Given the description of an element on the screen output the (x, y) to click on. 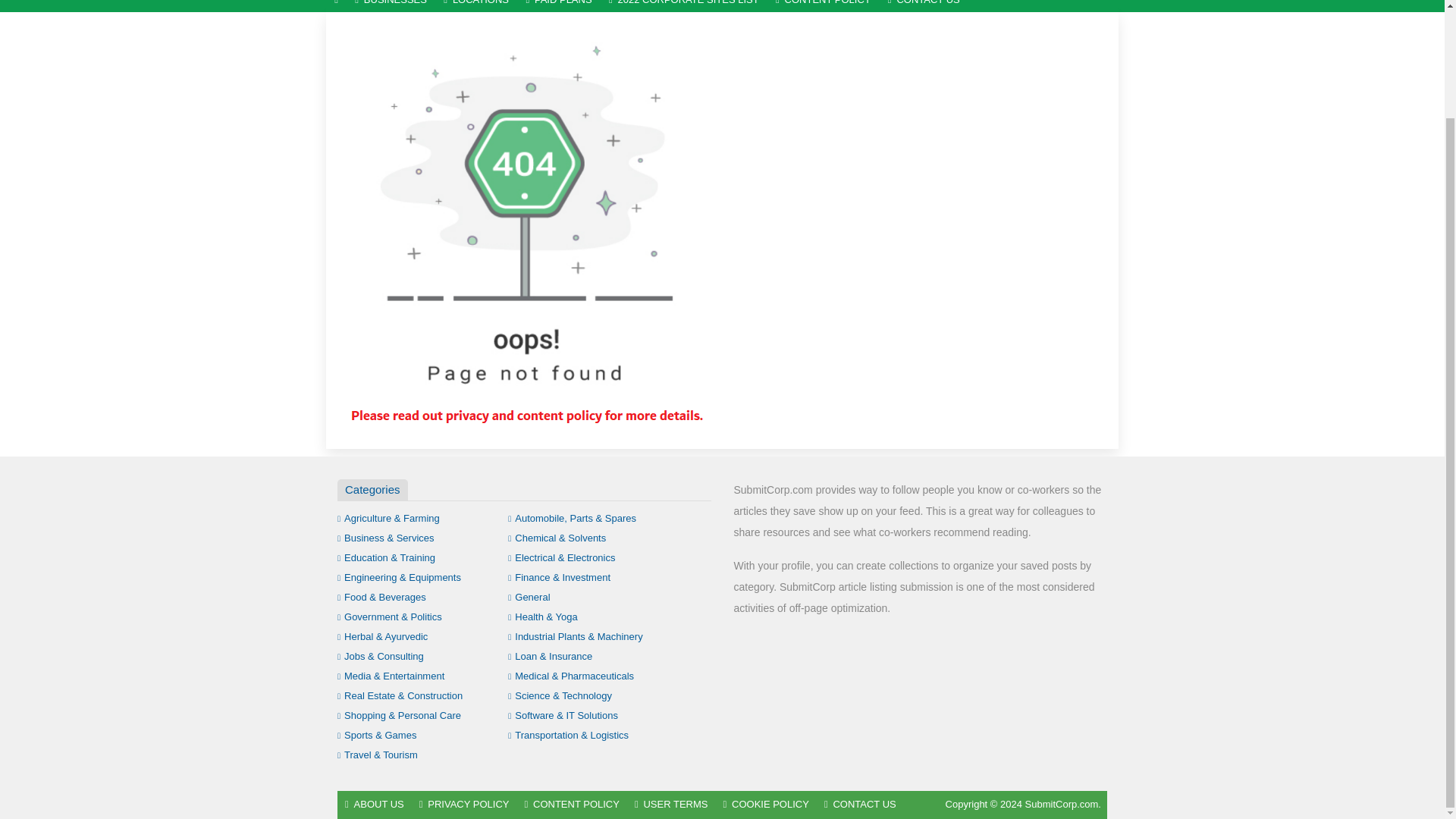
HOME (336, 6)
CONTACT US (923, 6)
LOCATIONS (475, 6)
BUSINESSES (390, 6)
General (529, 596)
CONTENT POLICY (823, 6)
2022 CORPORATE SITES LIST (683, 6)
PAID PLANS (557, 6)
